Given the description of an element on the screen output the (x, y) to click on. 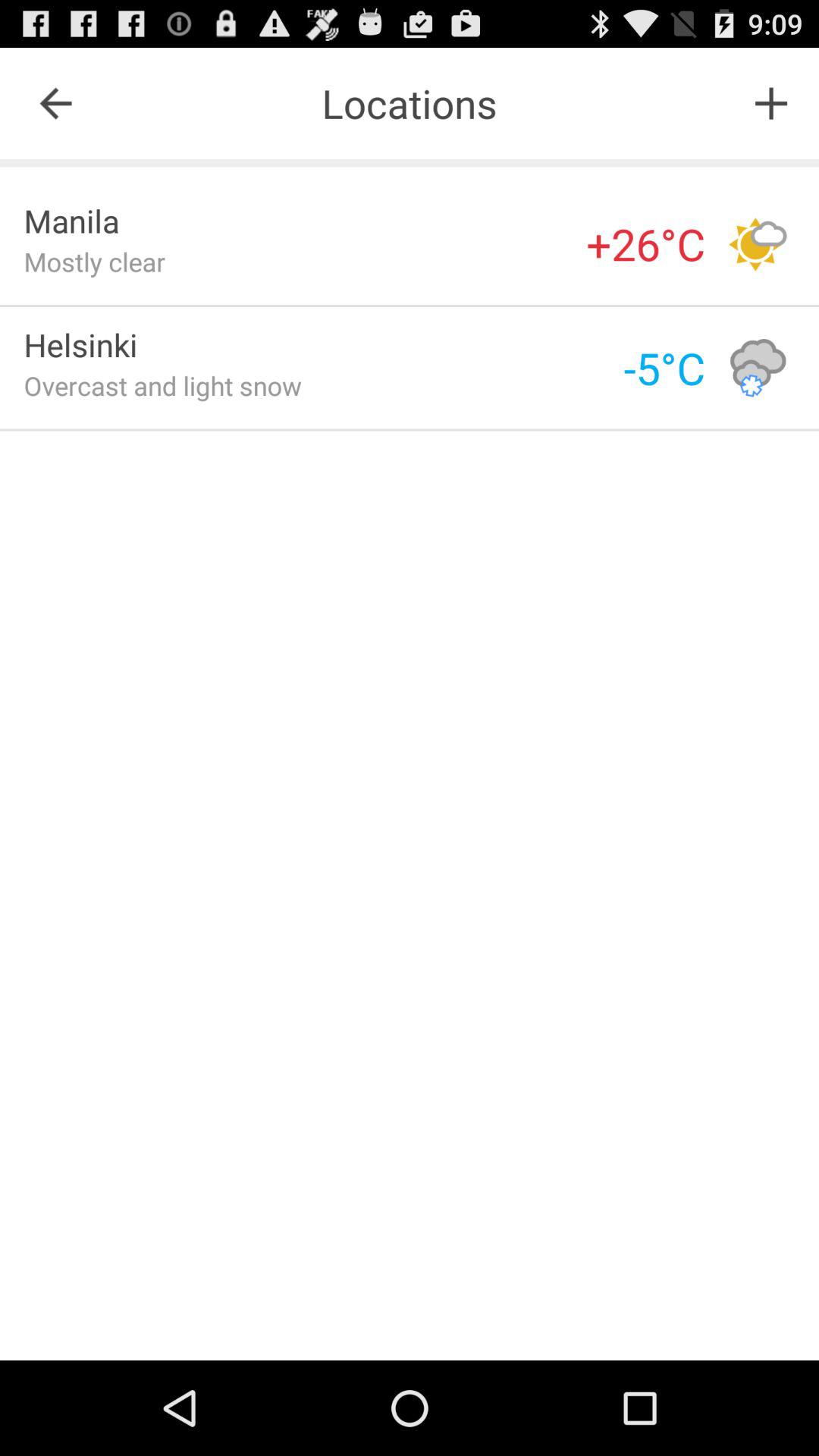
launch the item to the right of the locations (771, 103)
